Given the description of an element on the screen output the (x, y) to click on. 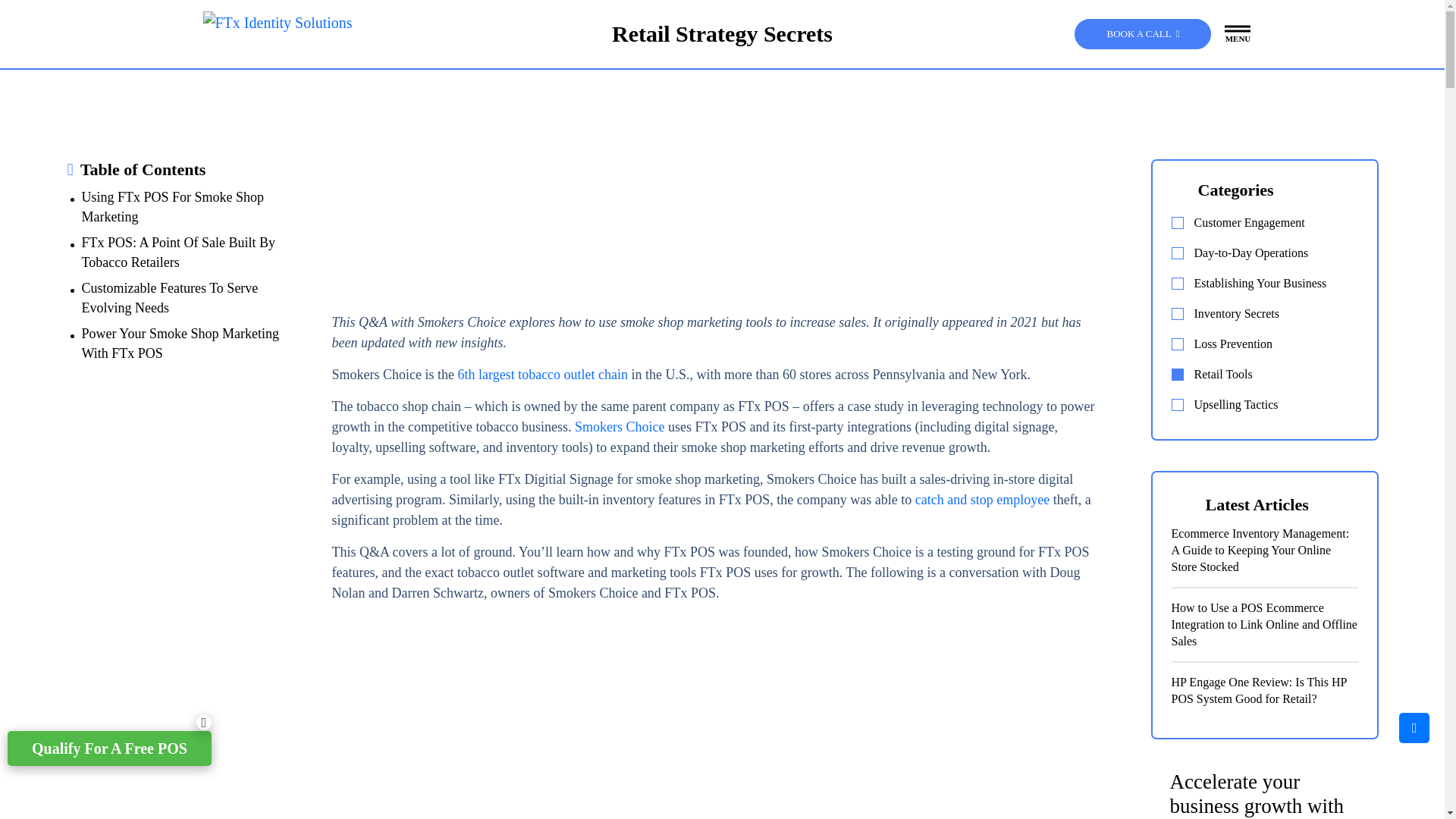
MENU (1237, 34)
Using FTx POS For Smoke Shop Marketing (191, 209)
BOOK A CALL   (1142, 33)
